Given the description of an element on the screen output the (x, y) to click on. 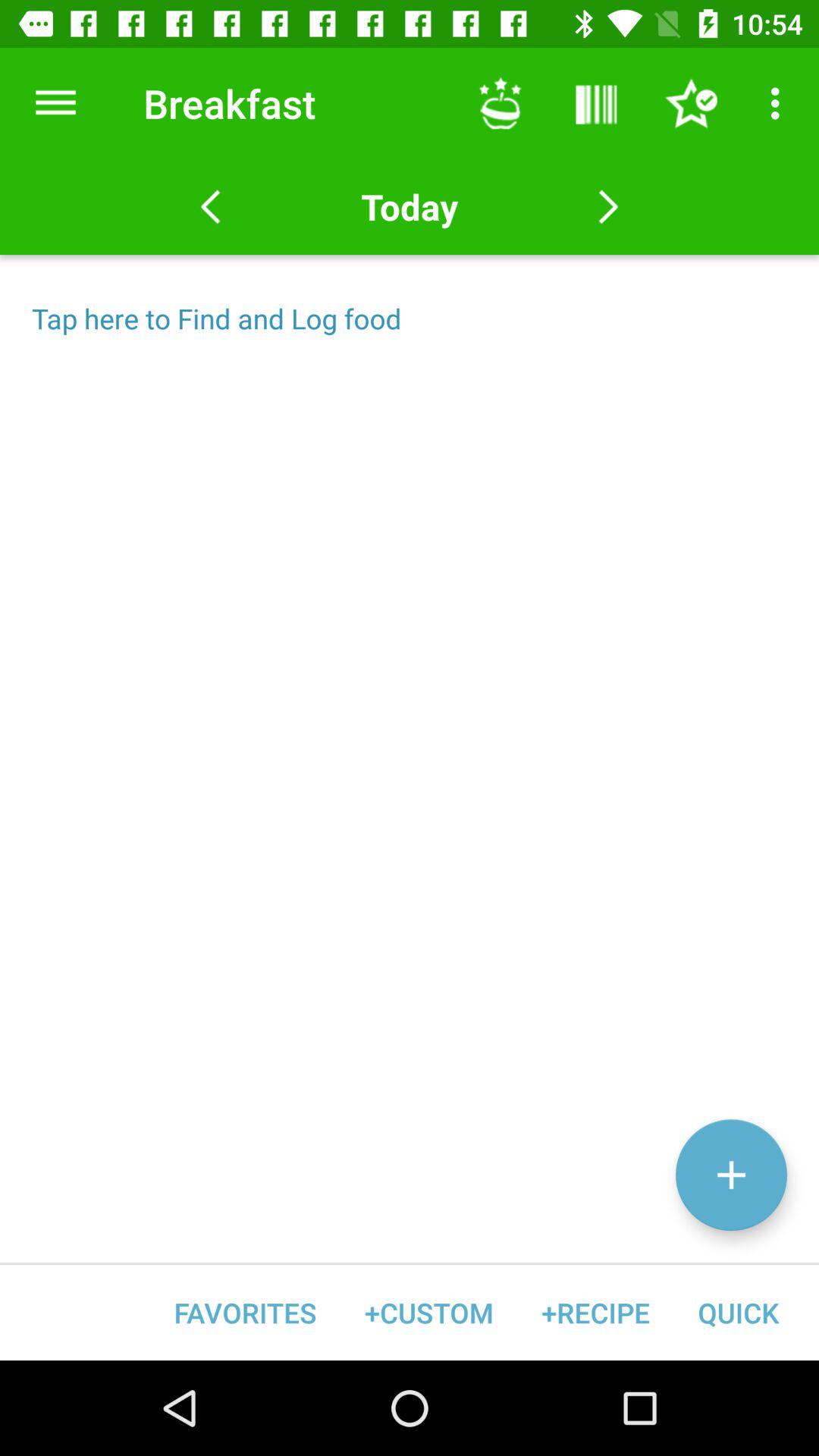
turn on the favorites item (245, 1312)
